Given the description of an element on the screen output the (x, y) to click on. 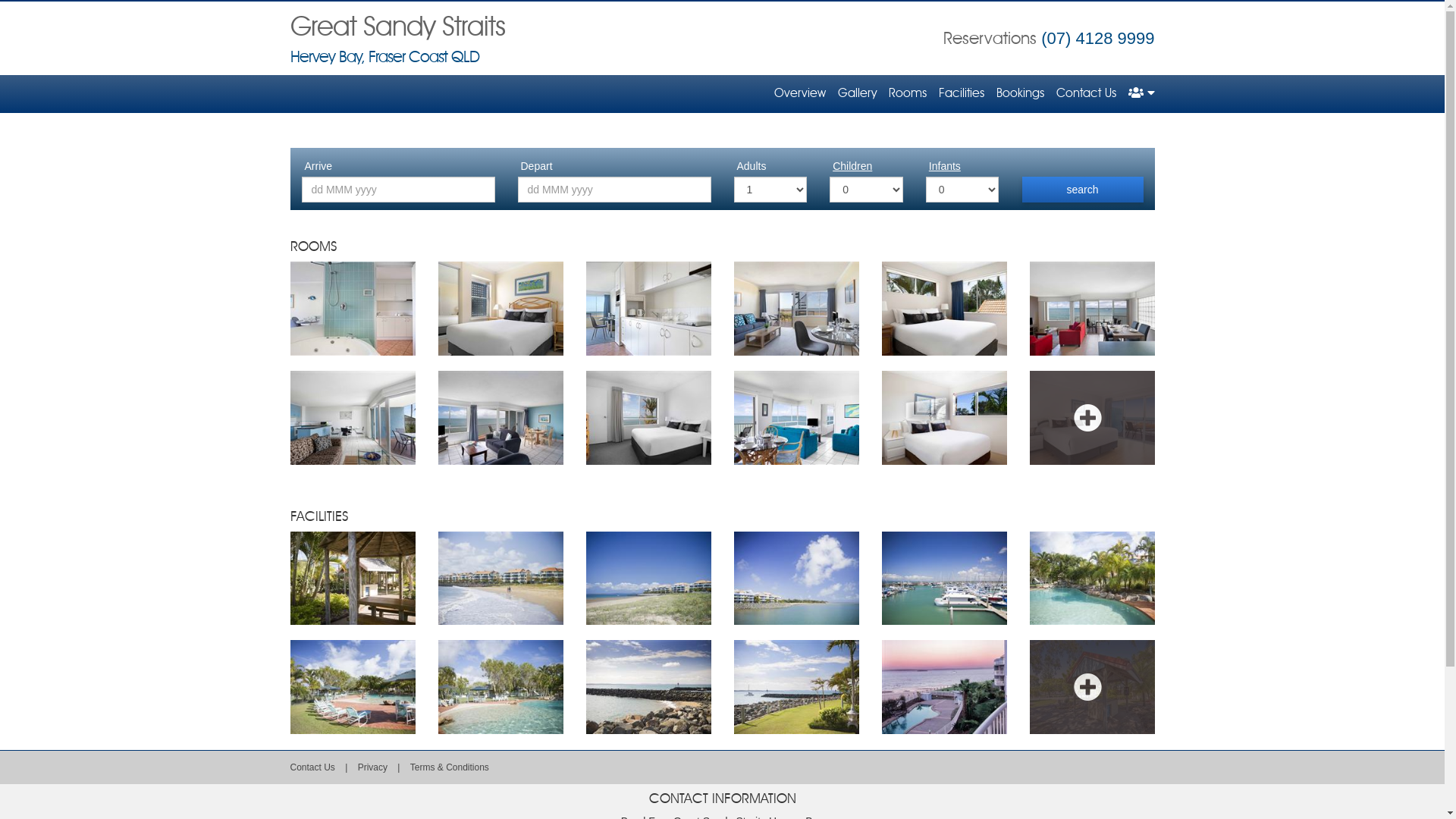
Barbeque Area - BreakFree Great Sandy Straits Element type: hover (351, 577)
3 Bedroom Apartment Bedroom-BreakFree Great Sandy Straits Element type: hover (647, 417)
Contact Us Element type: text (311, 767)
Rooms Element type: text (907, 93)
Great Sandy Straits
Hervey Bay, Fraser Coast QLD Element type: text (396, 40)
Ocean View - BreakFree Great Sandy Straits Element type: hover (647, 687)
Contact Us Element type: text (1085, 93)
BBQ Area - BreakFree Great Sandy Straits  Element type: hover (1091, 687)
1 Bedroom Apartment Kitchen-BreakFree Great Sandy Straits Element type: hover (647, 308)
1 Bedroom Apartment Bedroom-BreakFree Great Sandy Straits Element type: hover (500, 308)
2 Bedroom Apartment Lounge-BreakFree Great Sandy Straits Element type: hover (500, 417)
search Element type: text (1082, 189)
Gallery Element type: text (856, 93)
View At Dusk  - BreakFree Great Sandy Straits Element type: hover (943, 687)
Overview Element type: text (799, 93)
(07) 4128 9999 Element type: text (1097, 37)
Bookings Element type: text (1020, 93)
1 Bedroom Apartment Lounge-BreakFree Great Sandy Straits Element type: hover (796, 308)
Marina  - BreakFree Great Sandy Straits Element type: hover (943, 577)
Terms & Conditions Element type: text (449, 767)
Swimming Pool  - BreakFree Great Sandy Straits Element type: hover (1091, 577)
View from Resort  - BreakFree Great Sandy Straits Element type: hover (796, 687)
2 Bedroom Apartment Lounge-BreakFree Great Sandy Straits Element type: hover (1091, 308)
2 Bedroom Apartment Bedroom-BreakFree Great Sandy Straits Element type: hover (943, 308)
Facilities Element type: text (961, 93)
1 Bedroom Apartment Bathroom-BreakFree Great Sandy Straits Element type: hover (351, 308)
2 Bedroom Apartment Lounge-BreakFree Great Sandy Straits Element type: hover (351, 417)
Privacy Element type: text (373, 767)
Lagoon Style Swimming Pool - BreakFree Great Sandy Straits Element type: hover (351, 687)
Lagoon Style Pool - BreakFree Great Sandy Straits Element type: hover (500, 687)
Exterior of Resort  - BreakFree Great Sandy Straits Element type: hover (500, 577)
3 Bedroom Apartment Lounge-BreakFree Great Sandy Straits Element type: hover (796, 417)
Resort and Beach - BreakFree Great Sandy Straits Element type: hover (796, 577)
